Given the description of an element on the screen output the (x, y) to click on. 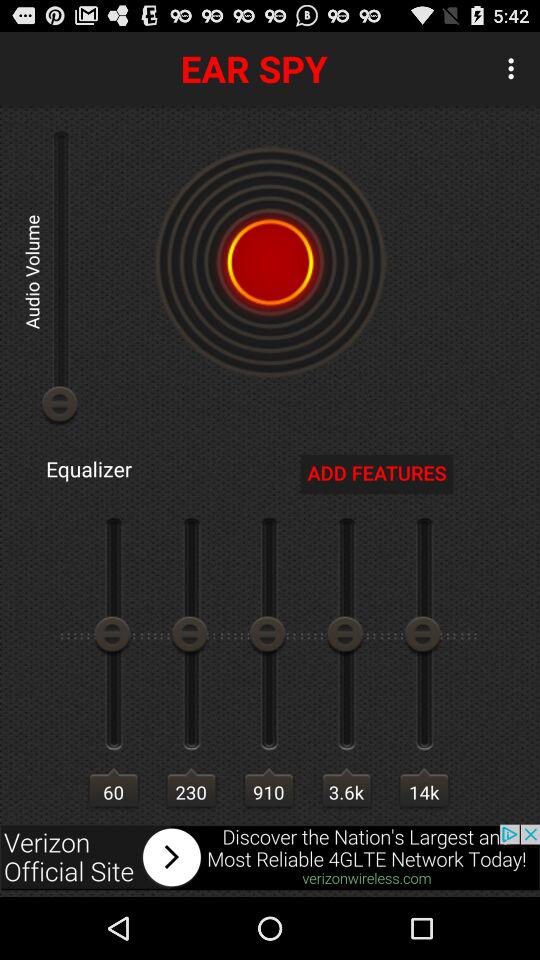
play option (270, 857)
